Given the description of an element on the screen output the (x, y) to click on. 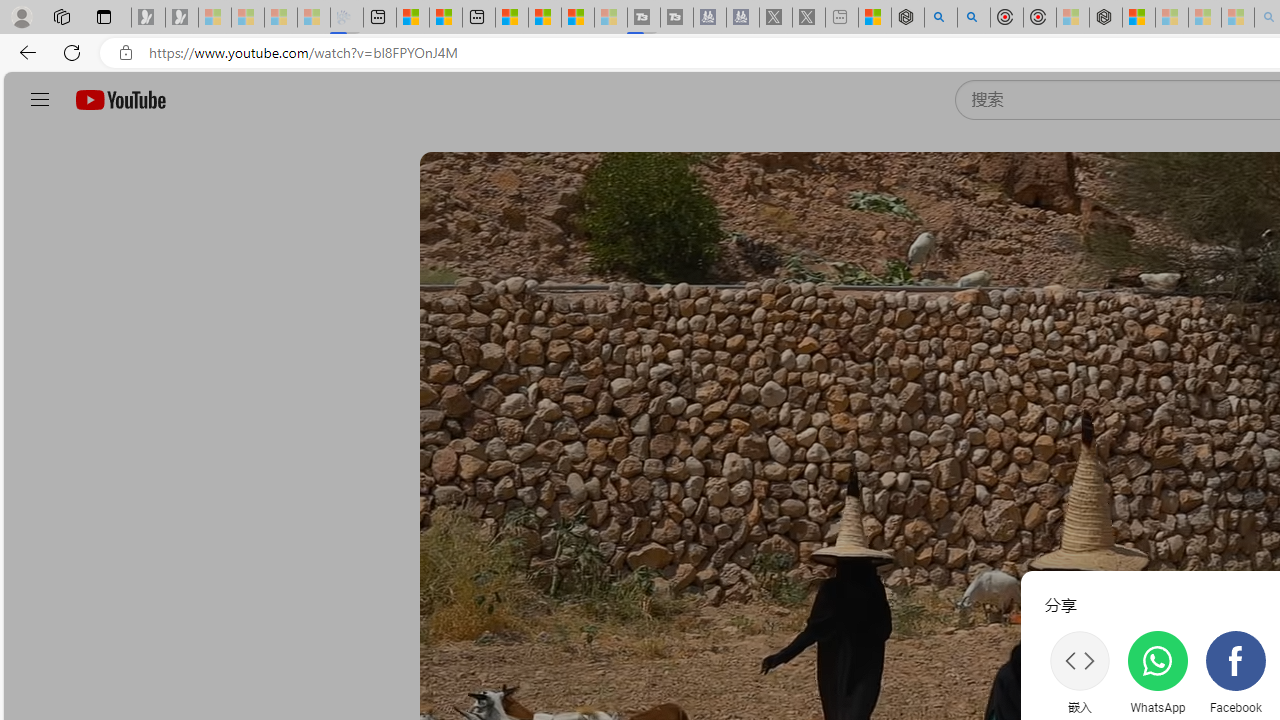
WhatsApp (1157, 672)
